Given the description of an element on the screen output the (x, y) to click on. 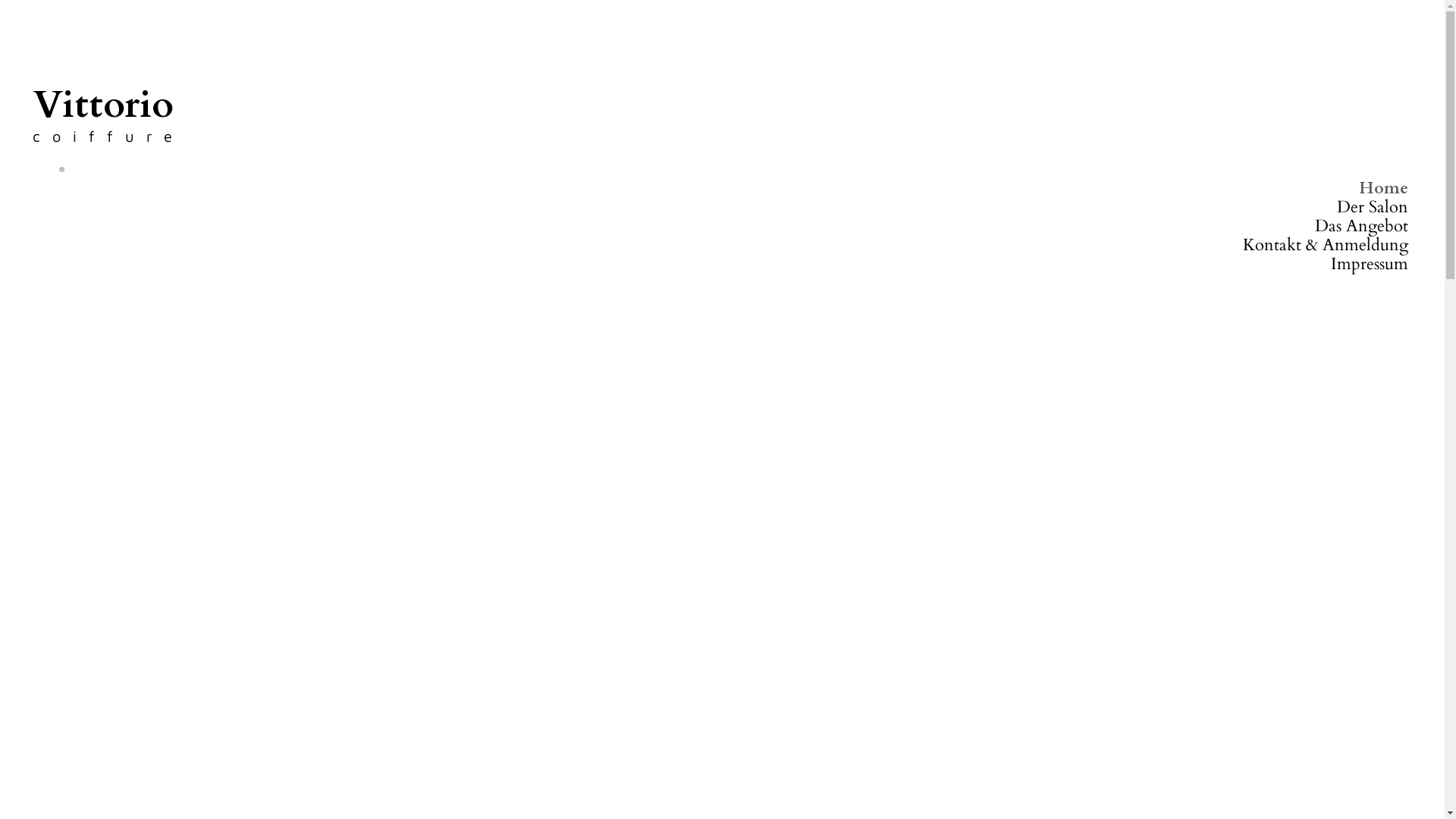
Home Element type: text (1383, 187)
Impressum Element type: text (1369, 263)
Kontakt & Anmeldung Element type: text (1325, 244)
Das Angebot Element type: text (1361, 225)
Vittorio Element type: text (102, 104)
Der Salon Element type: text (1372, 206)
Close Menu Element type: hover (741, 169)
Termin vereinbaren Element type: text (721, 734)
